Given the description of an element on the screen output the (x, y) to click on. 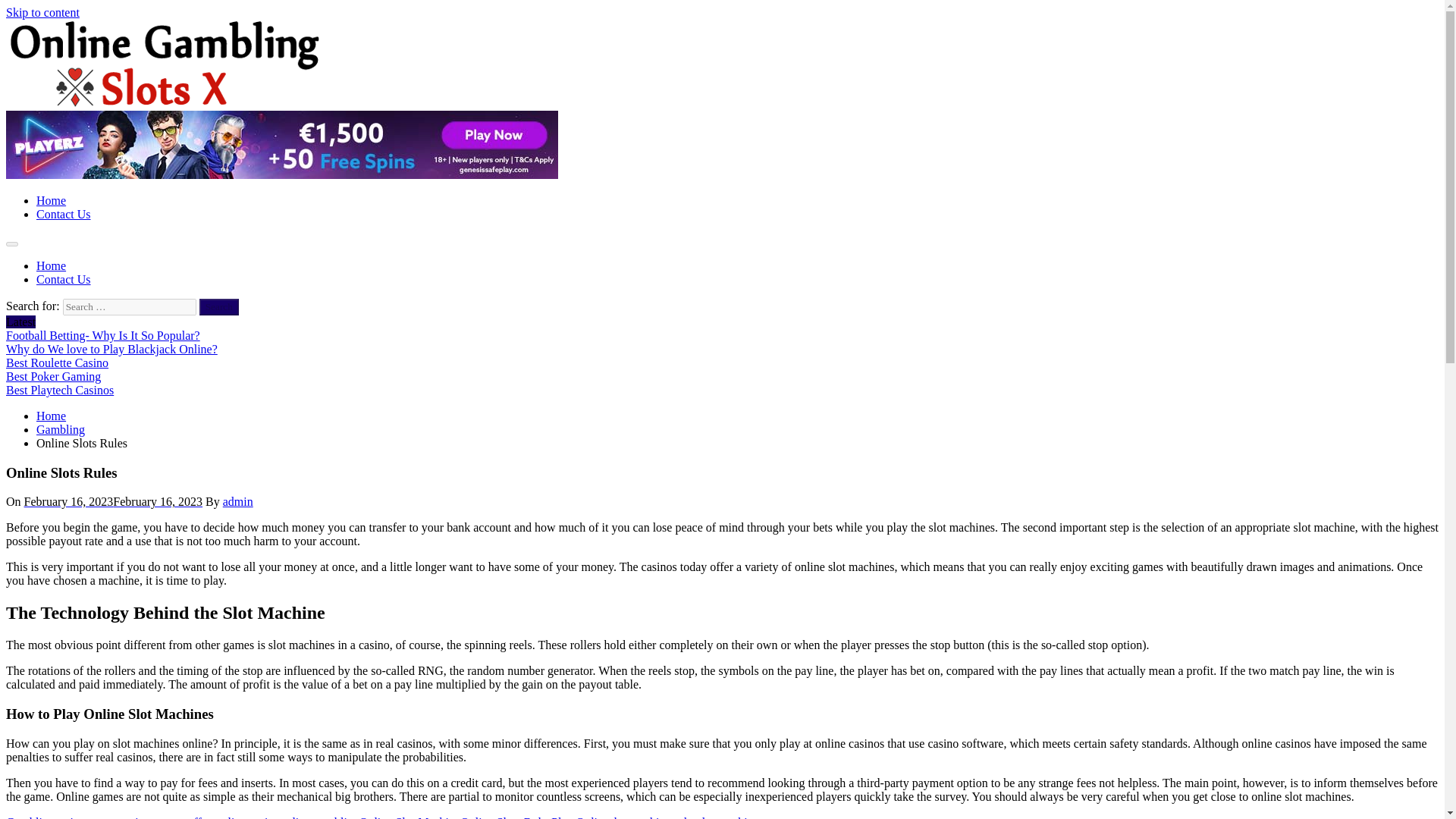
Home (50, 200)
casino games offers (167, 817)
Search (218, 306)
Contact Us (63, 214)
Why do We love to Play Blackjack Online? (110, 349)
online casino (248, 817)
Contact Us (63, 278)
Home (50, 265)
Best Roulette Casino (56, 362)
Skip to content (42, 11)
Online Gambling Slots X (67, 128)
Search (218, 306)
Online Slots Rules (505, 817)
Best Playtech Casinos (59, 390)
Best Poker Gaming (52, 376)
